Given the description of an element on the screen output the (x, y) to click on. 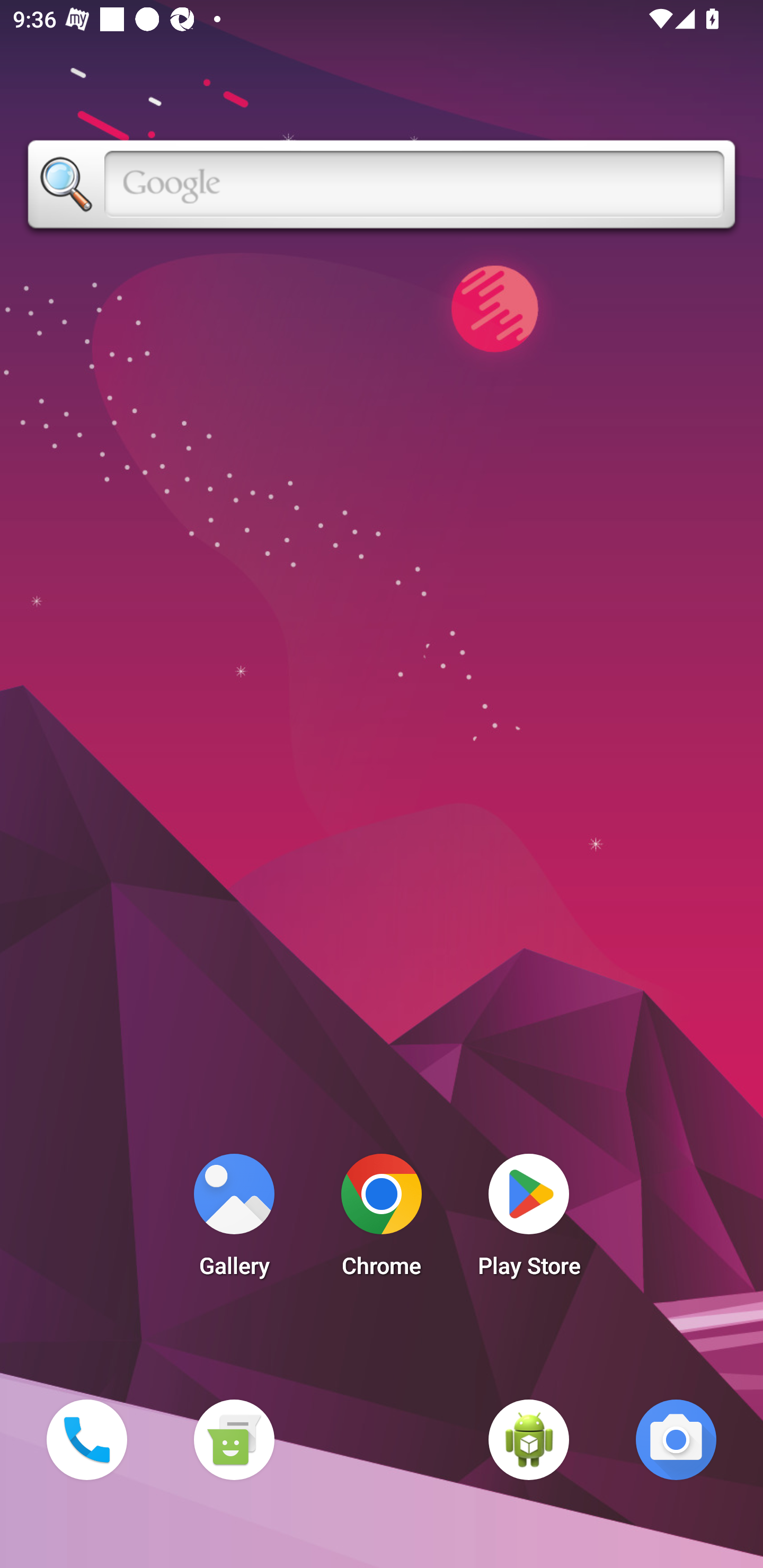
Gallery (233, 1220)
Chrome (381, 1220)
Play Store (528, 1220)
Phone (86, 1439)
Messaging (233, 1439)
WebView Browser Tester (528, 1439)
Camera (676, 1439)
